Given the description of an element on the screen output the (x, y) to click on. 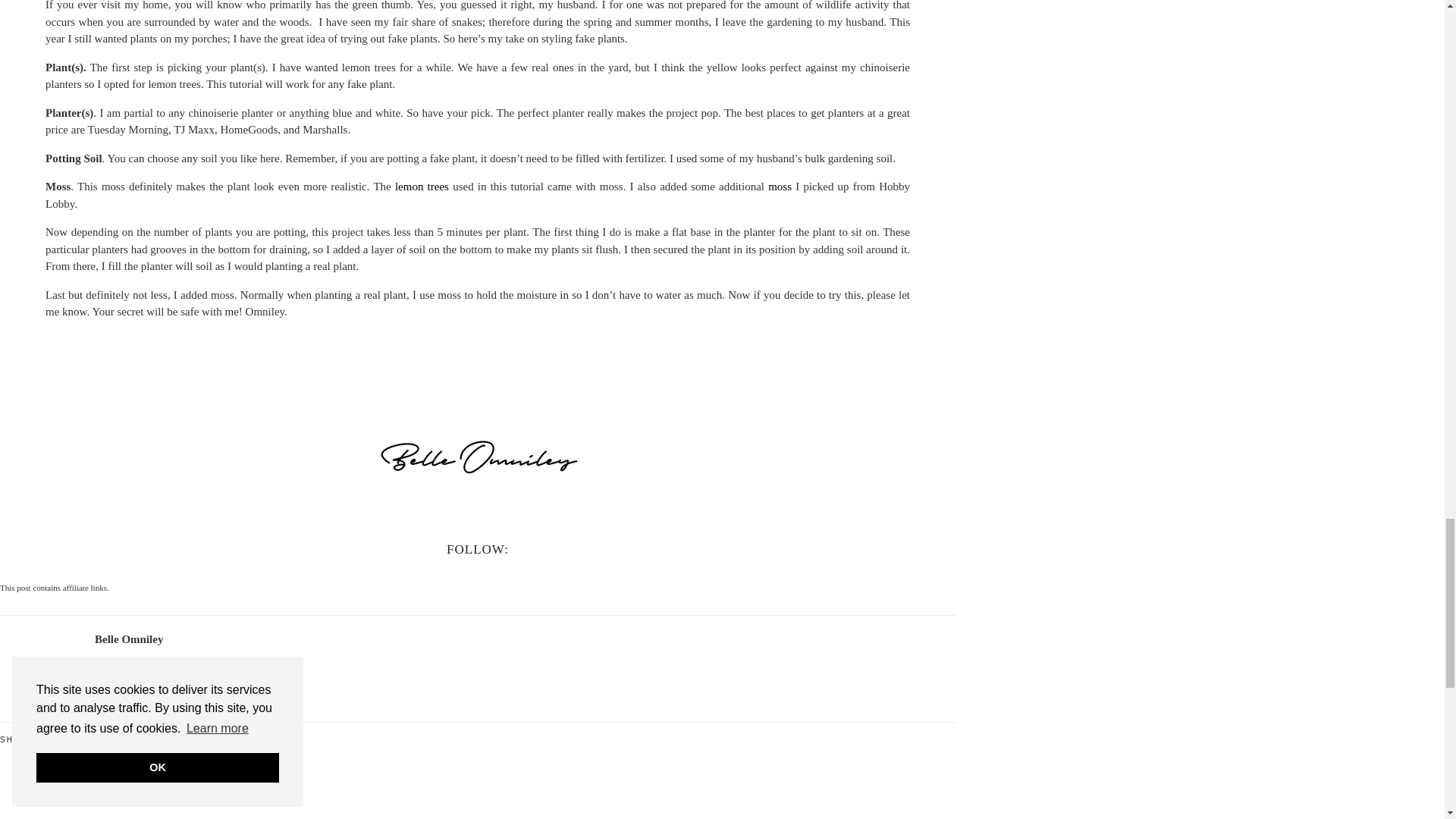
Share on Pinterest (60, 738)
Share on Facebook (44, 738)
Share on wp.com (67, 738)
Share on Twitter (52, 738)
